Given the description of an element on the screen output the (x, y) to click on. 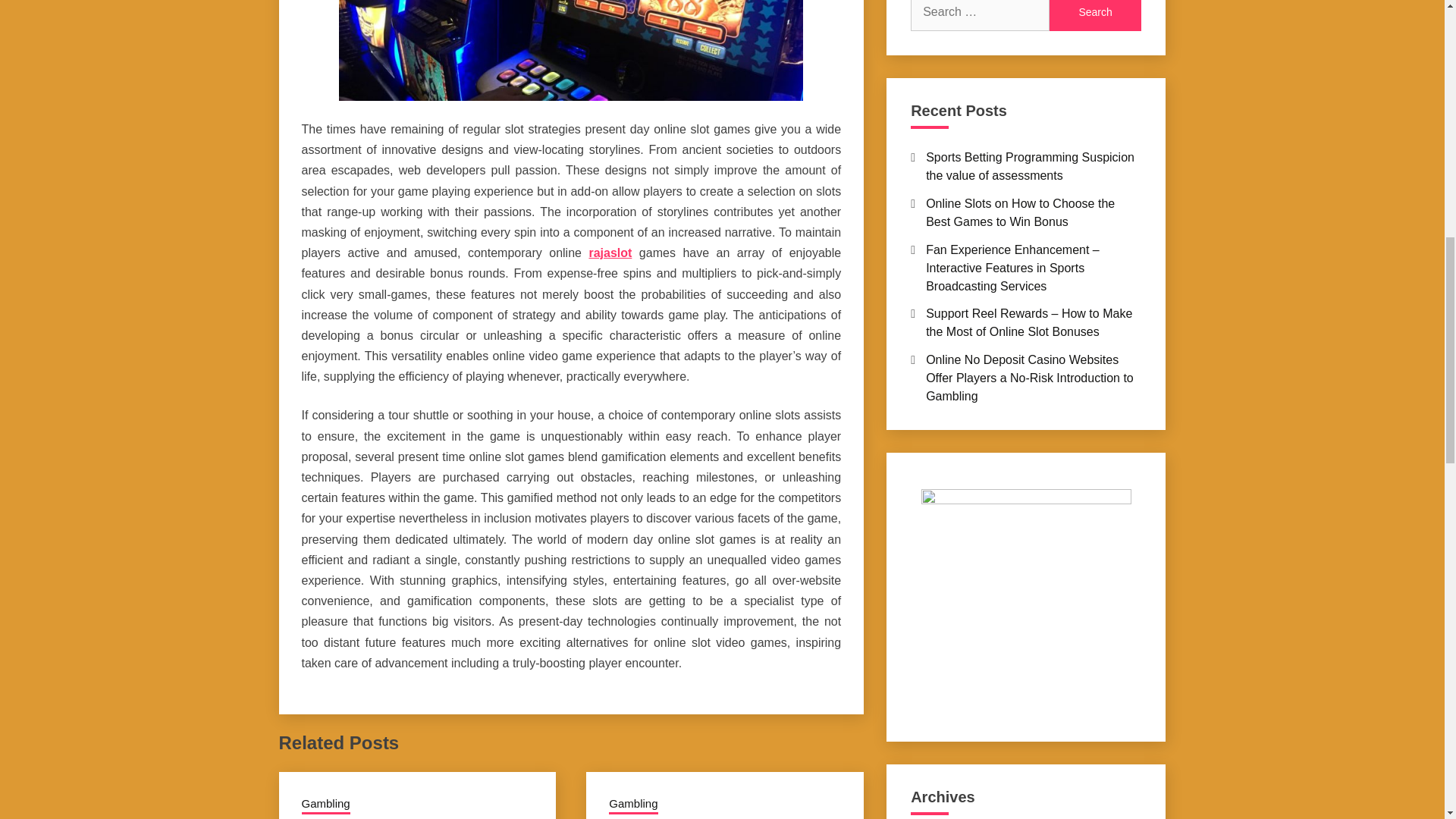
Gambling (633, 804)
Search (1095, 15)
rajaslot (609, 252)
Gambling (325, 804)
Search (1095, 15)
Search (1095, 15)
